Given the description of an element on the screen output the (x, y) to click on. 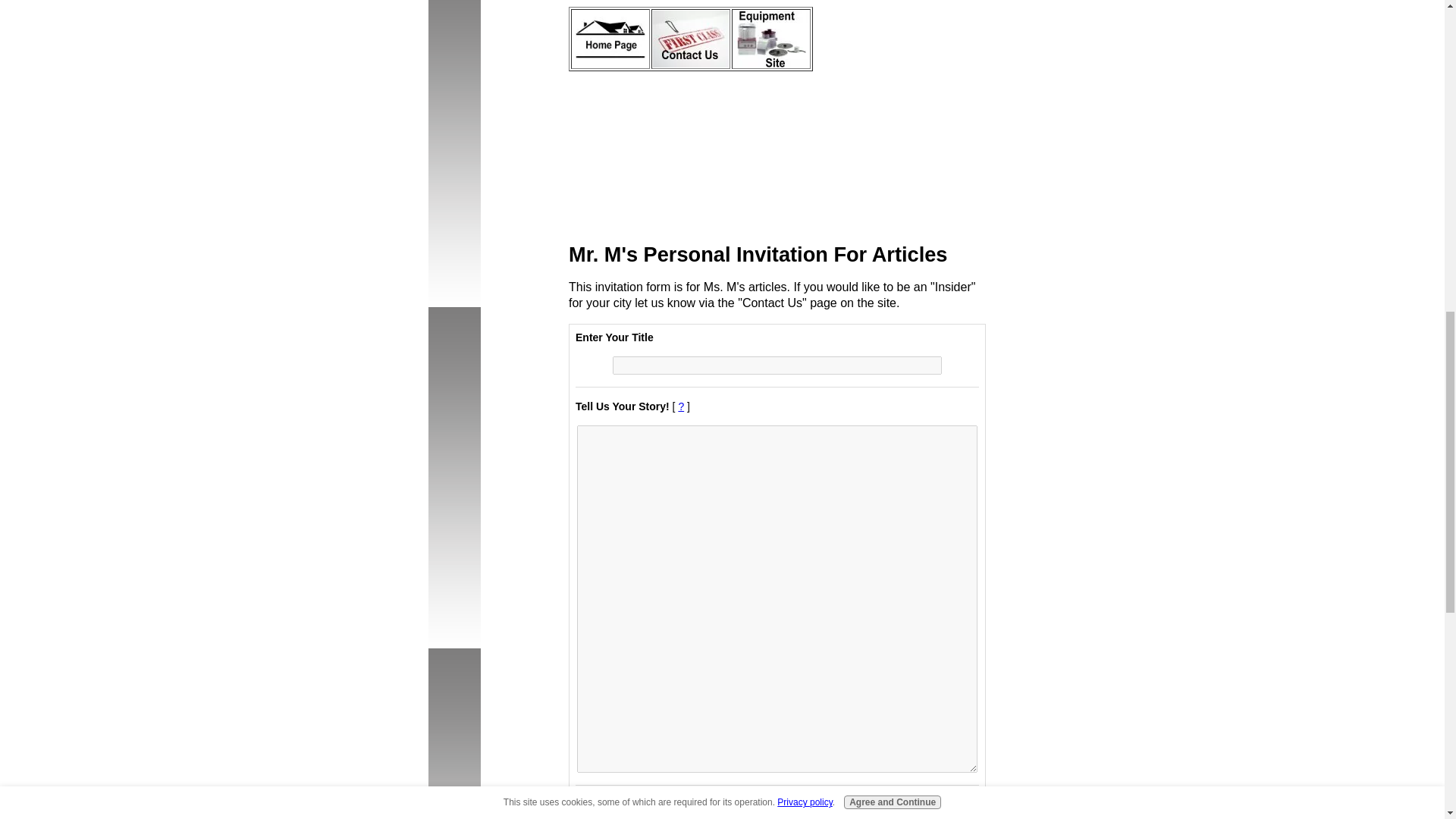
? (681, 406)
? (797, 804)
